Given the description of an element on the screen output the (x, y) to click on. 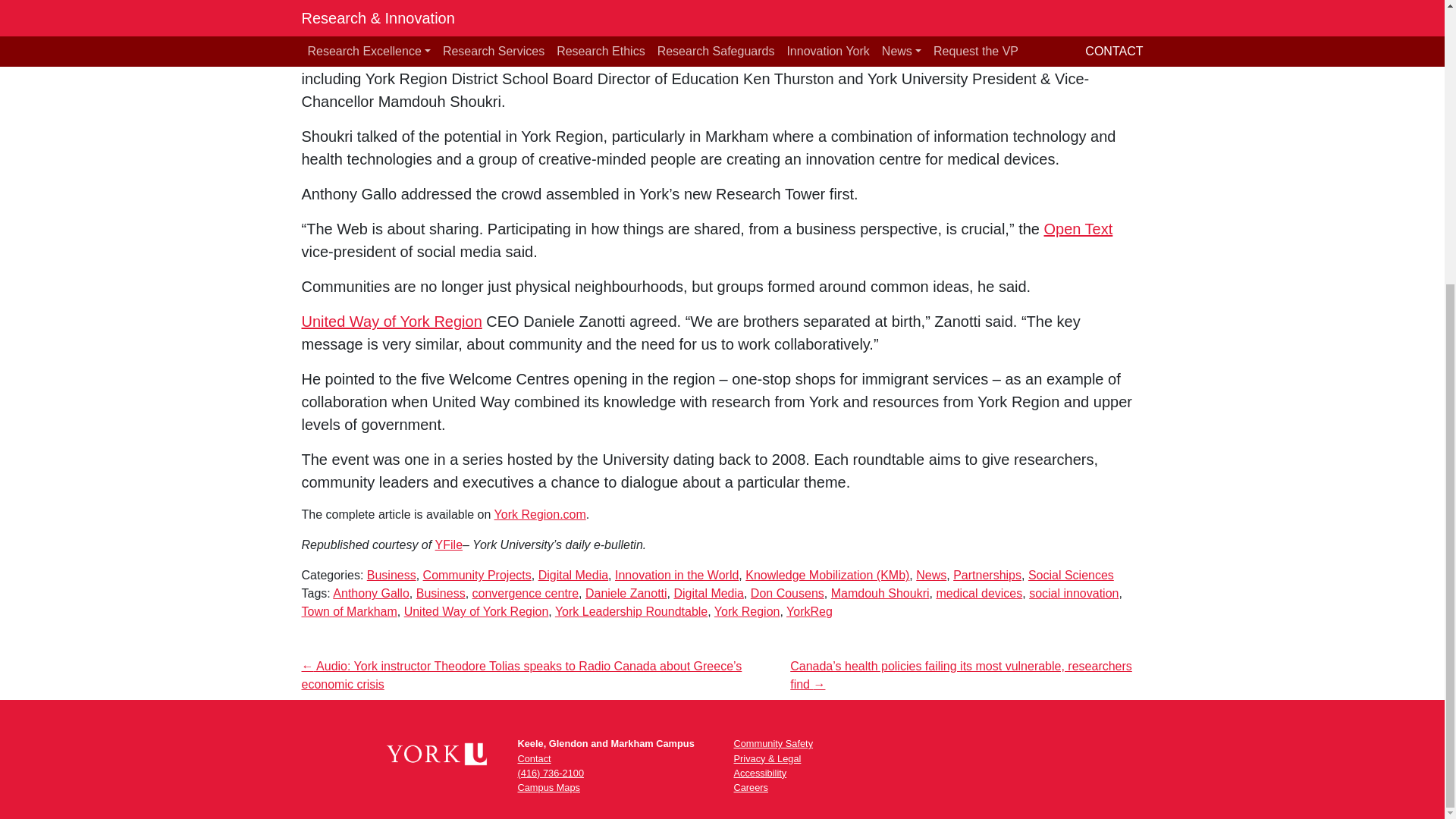
Digital Media (573, 574)
York Region.com (540, 513)
Business (391, 574)
YFile (449, 544)
Open Text (1077, 228)
Community Projects (477, 574)
YFile, York's  online daily newsletter (449, 544)
News (930, 574)
Innovation in the World (676, 574)
Partnerships (987, 574)
